Given the description of an element on the screen output the (x, y) to click on. 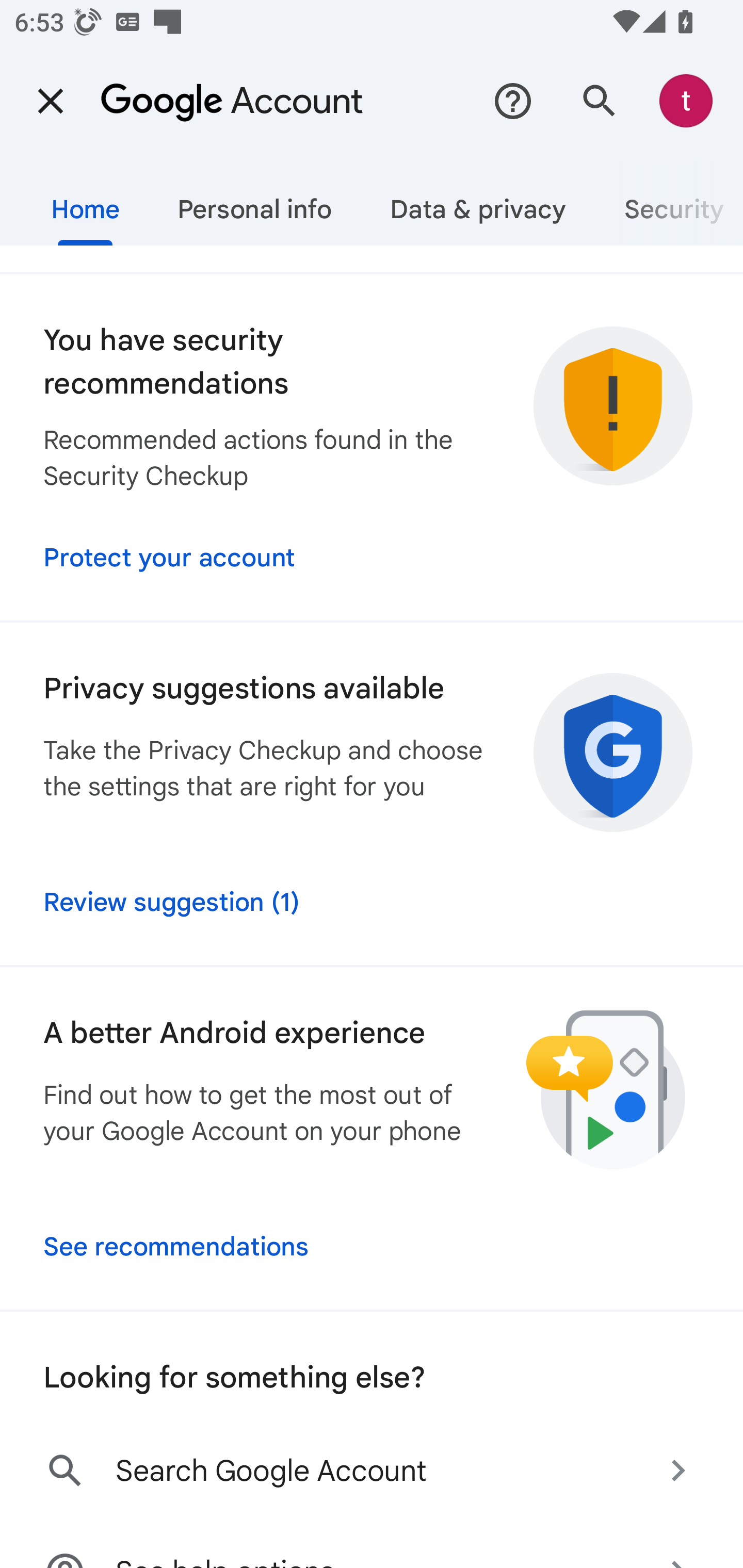
Close (50, 101)
Help (512, 101)
Search (599, 101)
Personal info (254, 202)
Data & privacy (477, 202)
Security (669, 202)
Search Google Account (371, 1470)
